Given the description of an element on the screen output the (x, y) to click on. 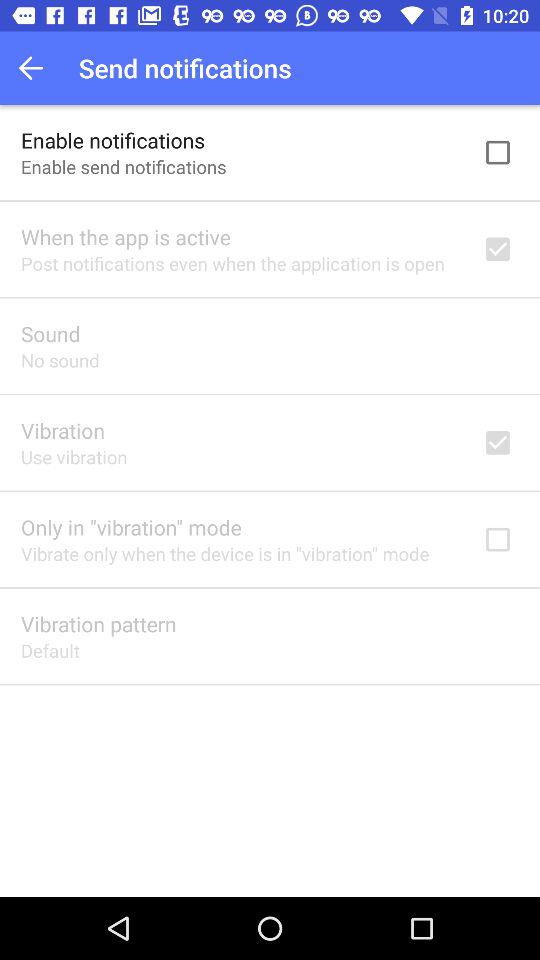
tap app below the vibration (74, 456)
